Given the description of an element on the screen output the (x, y) to click on. 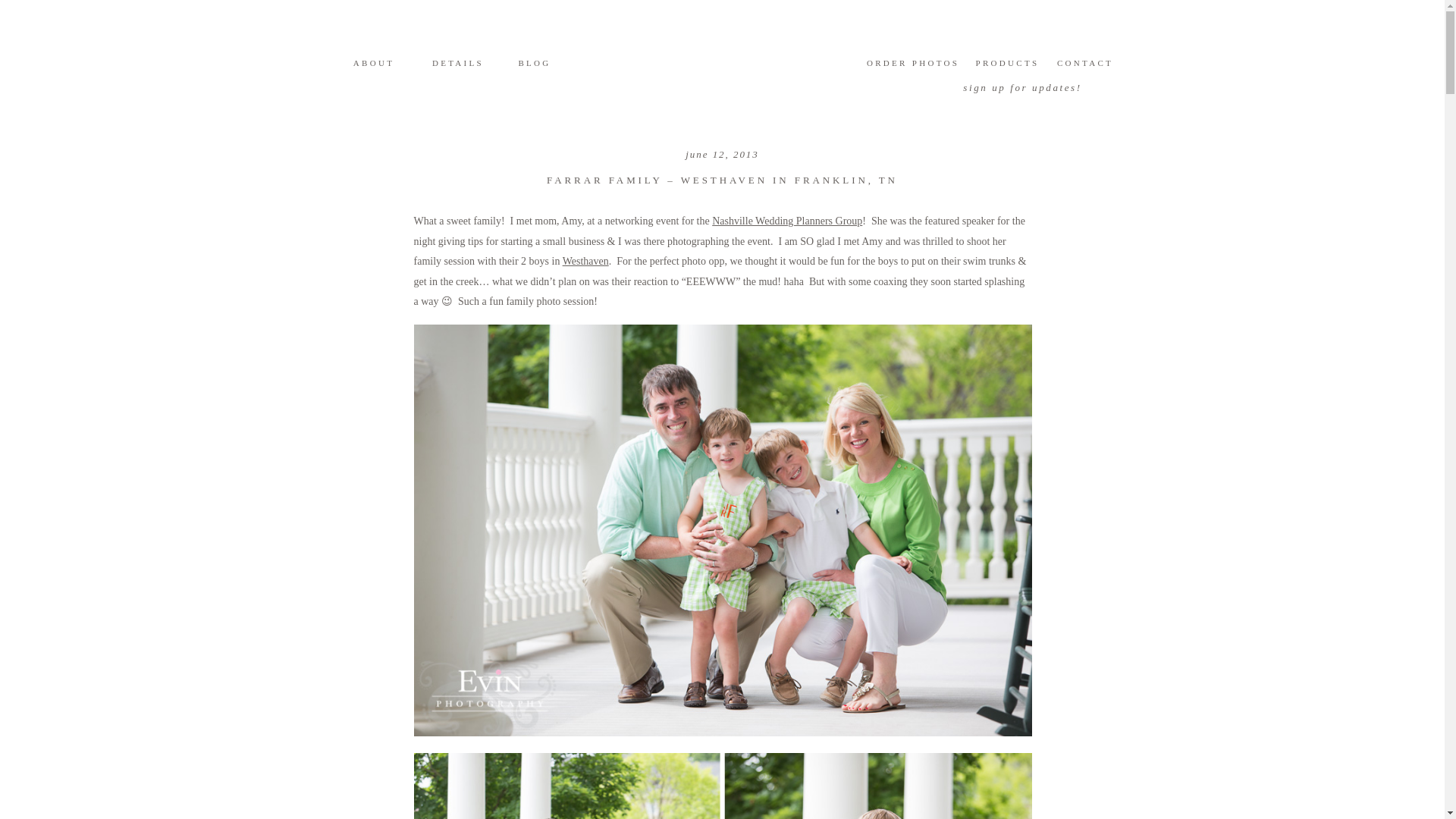
Nashville Wedding Planners Group Website (786, 220)
BLOG (534, 65)
CONTACT (1085, 65)
sign up for updates! (1022, 86)
Westhaven (585, 260)
PRODUCTS (1006, 65)
ORDER PHOTOS (912, 65)
DETAILS (457, 65)
ABOUT (374, 65)
Nashville Wedding Planners Group (786, 220)
Westhaven Website (585, 260)
